Given the description of an element on the screen output the (x, y) to click on. 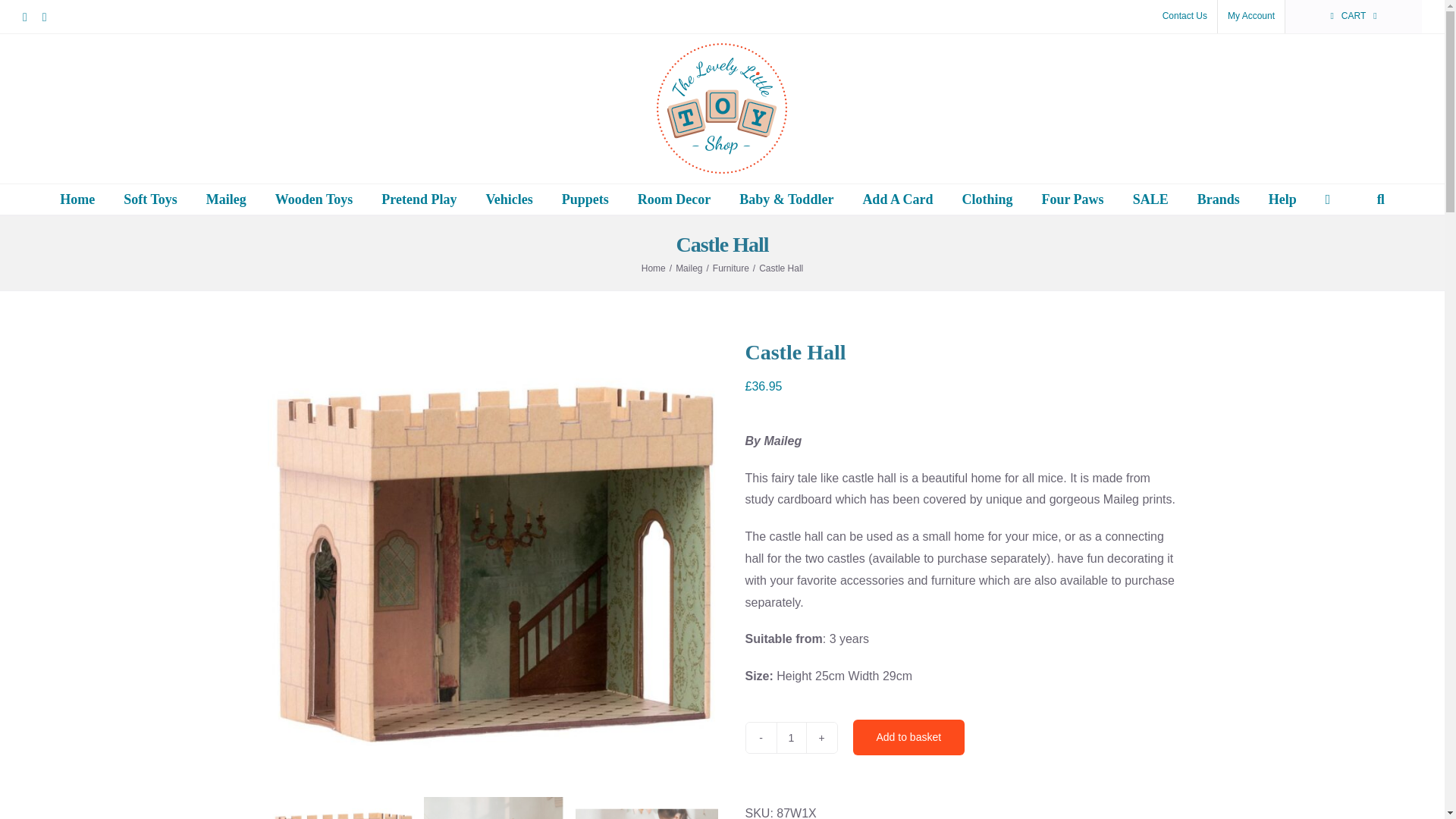
Contact Us (1185, 16)
CART (1353, 16)
Maileg (226, 199)
Soft Toys (150, 199)
Log In (1308, 177)
Home (76, 199)
My Account (1250, 16)
1 (791, 737)
- (760, 737)
